Given the description of an element on the screen output the (x, y) to click on. 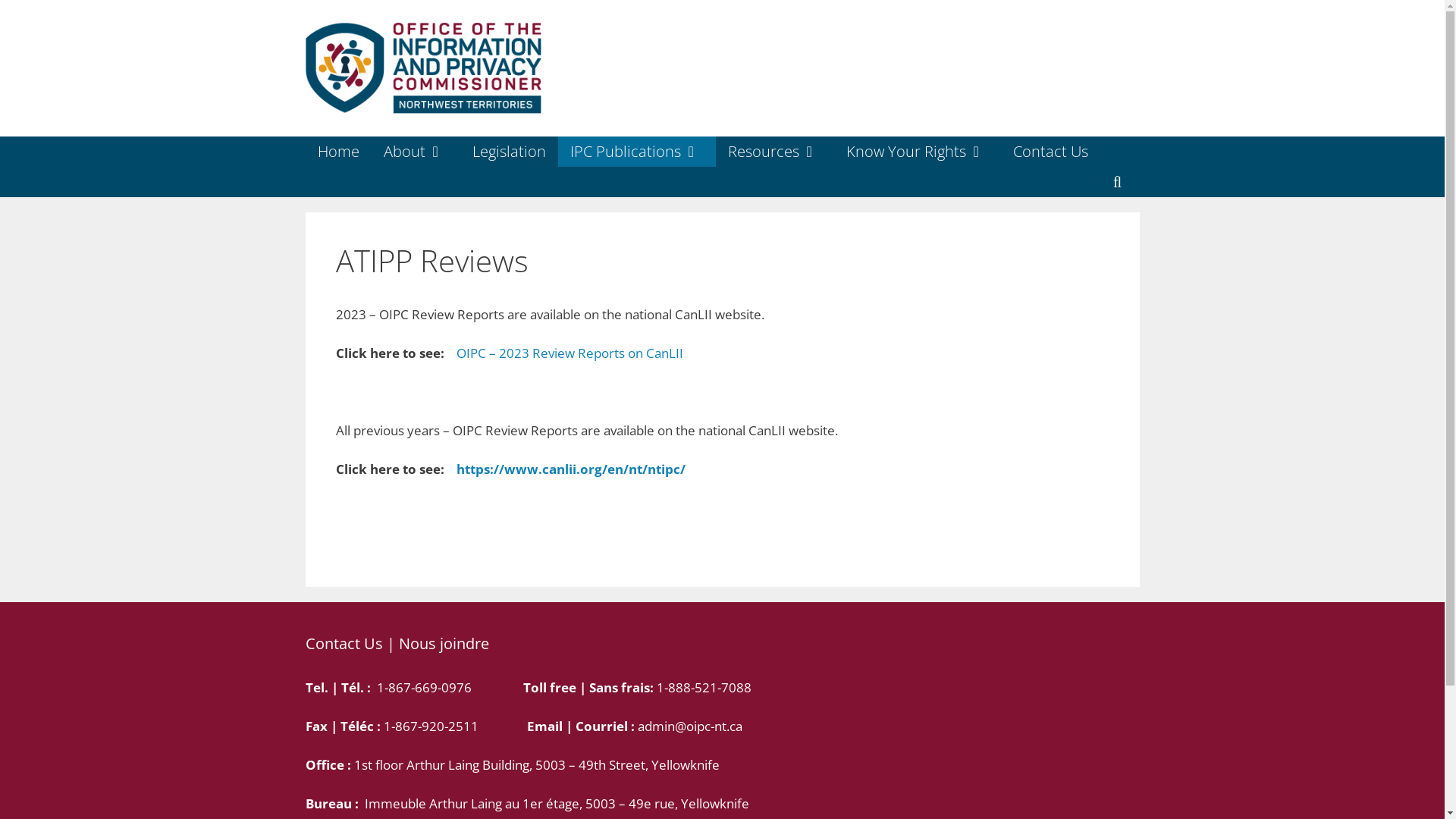
https://www.canlii.org/en/nt/ntipc/ Element type: text (569, 468)
Home Element type: text (337, 151)
Legislation Element type: text (508, 151)
IPC Publications Element type: text (636, 151)
Contact Us Element type: text (1050, 151)
About Element type: text (415, 151)
Know Your Rights Element type: text (917, 151)
Resources Element type: text (774, 151)
